Given the description of an element on the screen output the (x, y) to click on. 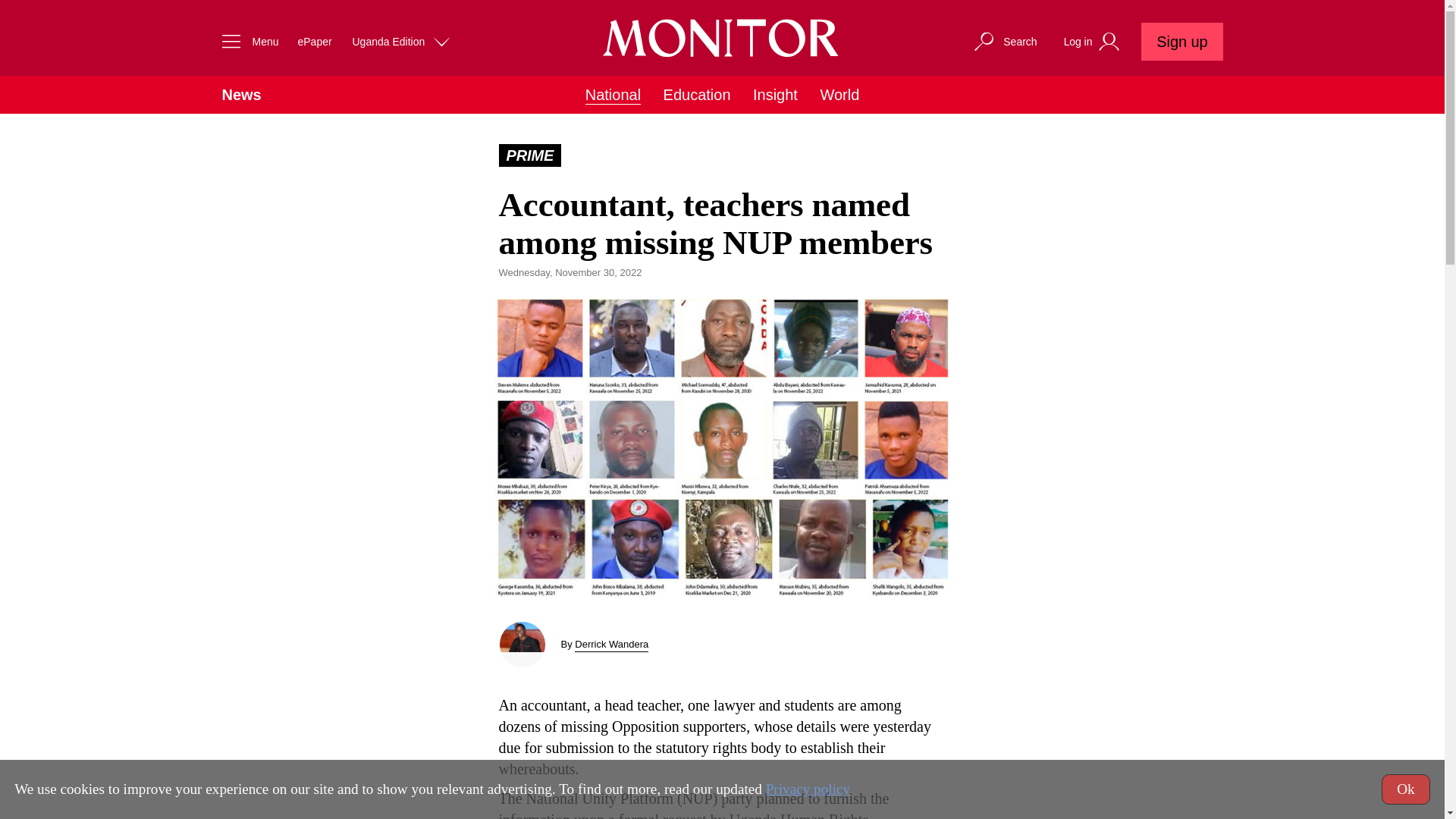
ePaper (314, 41)
Search (1003, 41)
Privacy policy (807, 788)
Uganda Edition (401, 41)
Menu (246, 41)
News (240, 94)
Education (696, 94)
Log in (1094, 41)
National (612, 95)
Privacy policy (807, 788)
World (839, 94)
Insight (774, 94)
Sign up (1182, 41)
Ok (1405, 788)
